Given the description of an element on the screen output the (x, y) to click on. 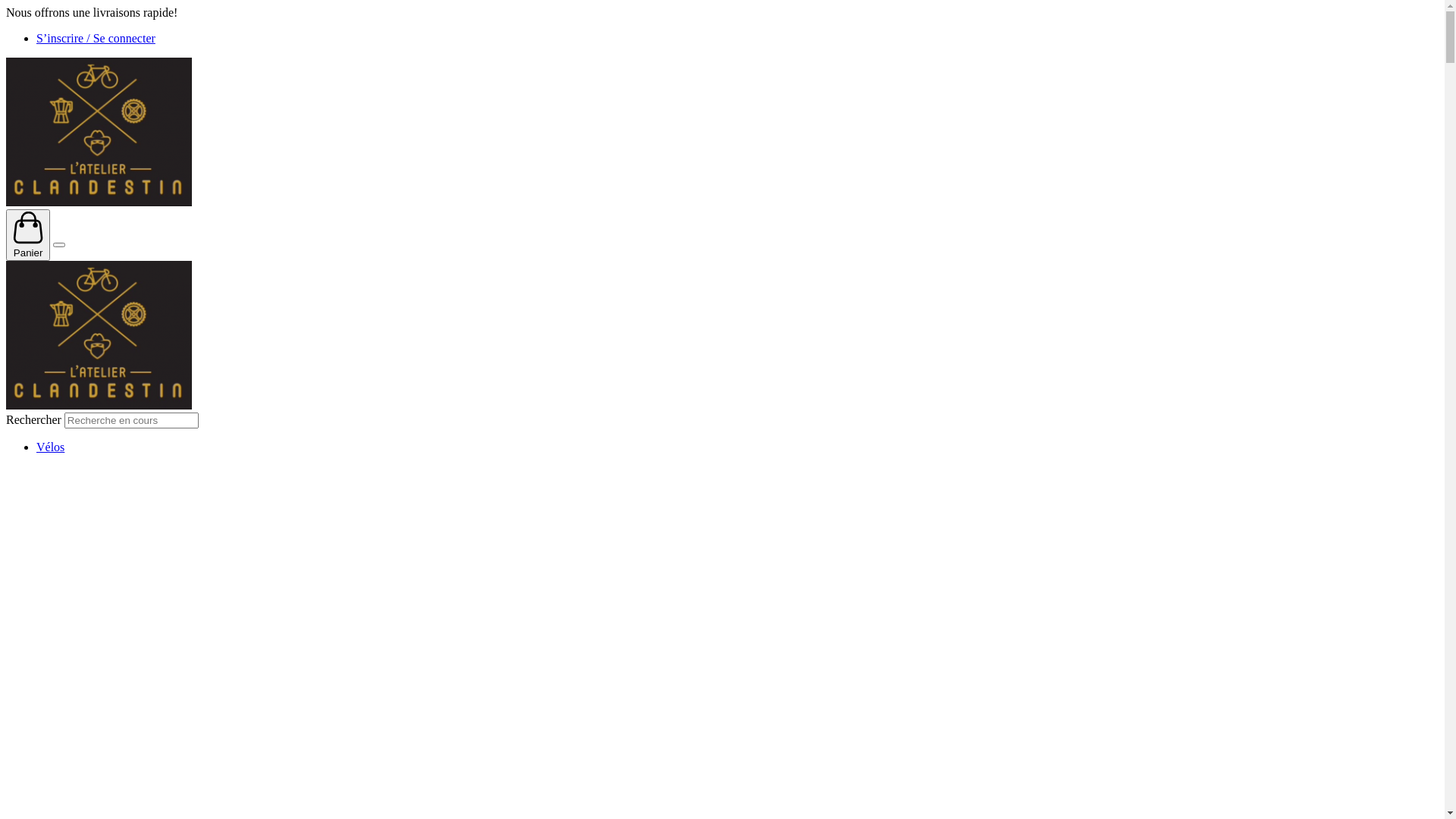
L' Atelier Clandestin Element type: hover (98, 404)
L' Atelier Clandestin Element type: hover (98, 201)
Panier Panier Element type: text (28, 234)
